Given the description of an element on the screen output the (x, y) to click on. 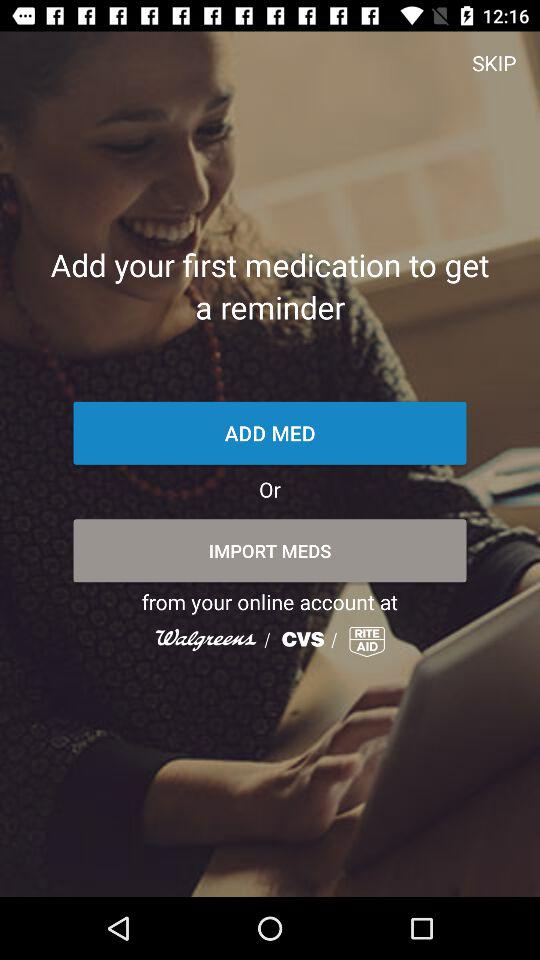
launch import meds (269, 550)
